Given the description of an element on the screen output the (x, y) to click on. 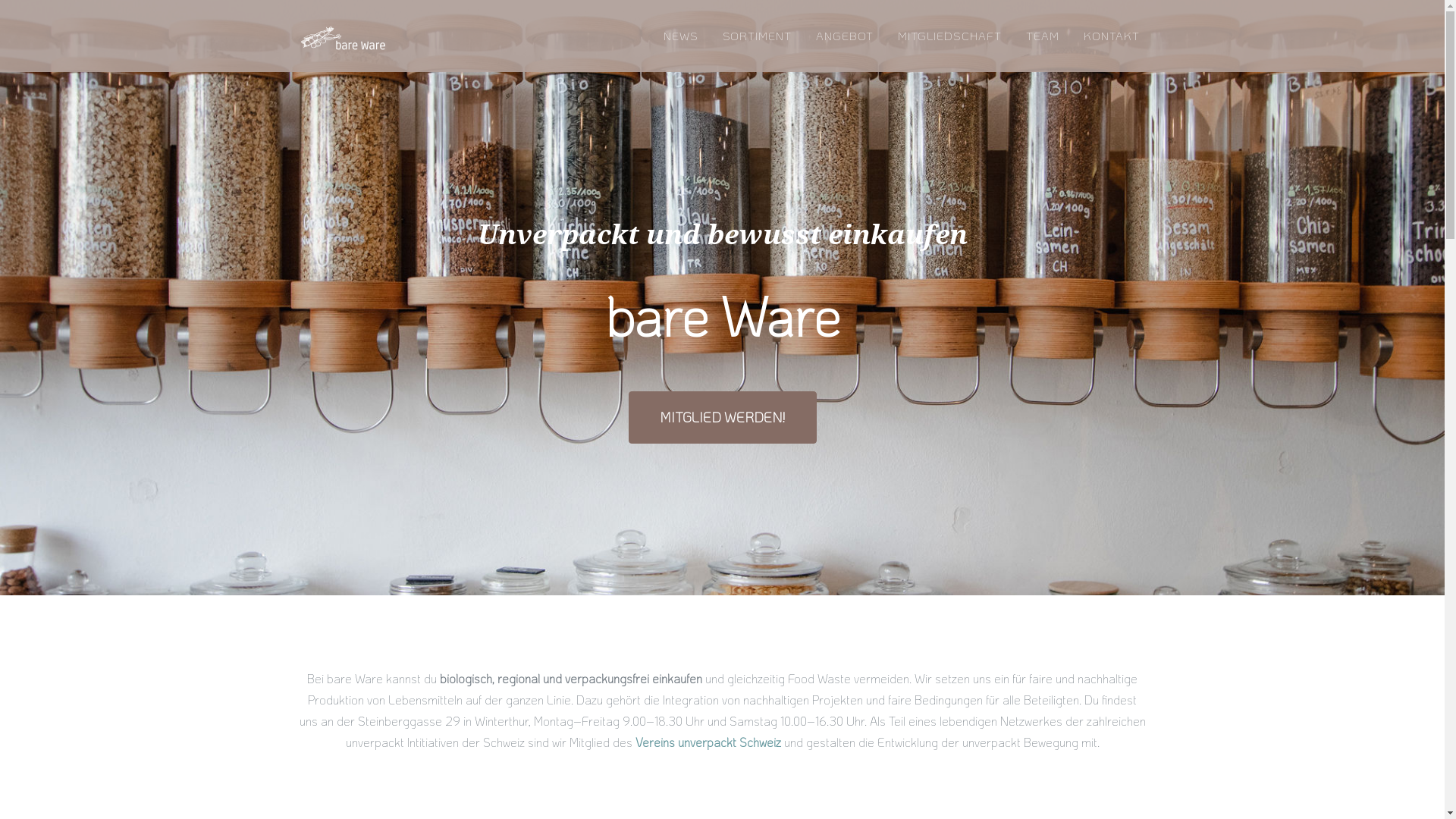
MITGLIEDSCHAFT Element type: text (949, 35)
ANGEBOT Element type: text (844, 35)
SORTIMENT Element type: text (756, 35)
Vereins unverpackt Schweiz Element type: text (708, 741)
MITGLIED WERDEN! Element type: text (721, 417)
NEWS Element type: text (680, 35)
KONTAKT Element type: text (1111, 35)
TEAM Element type: text (1042, 35)
